Given the description of an element on the screen output the (x, y) to click on. 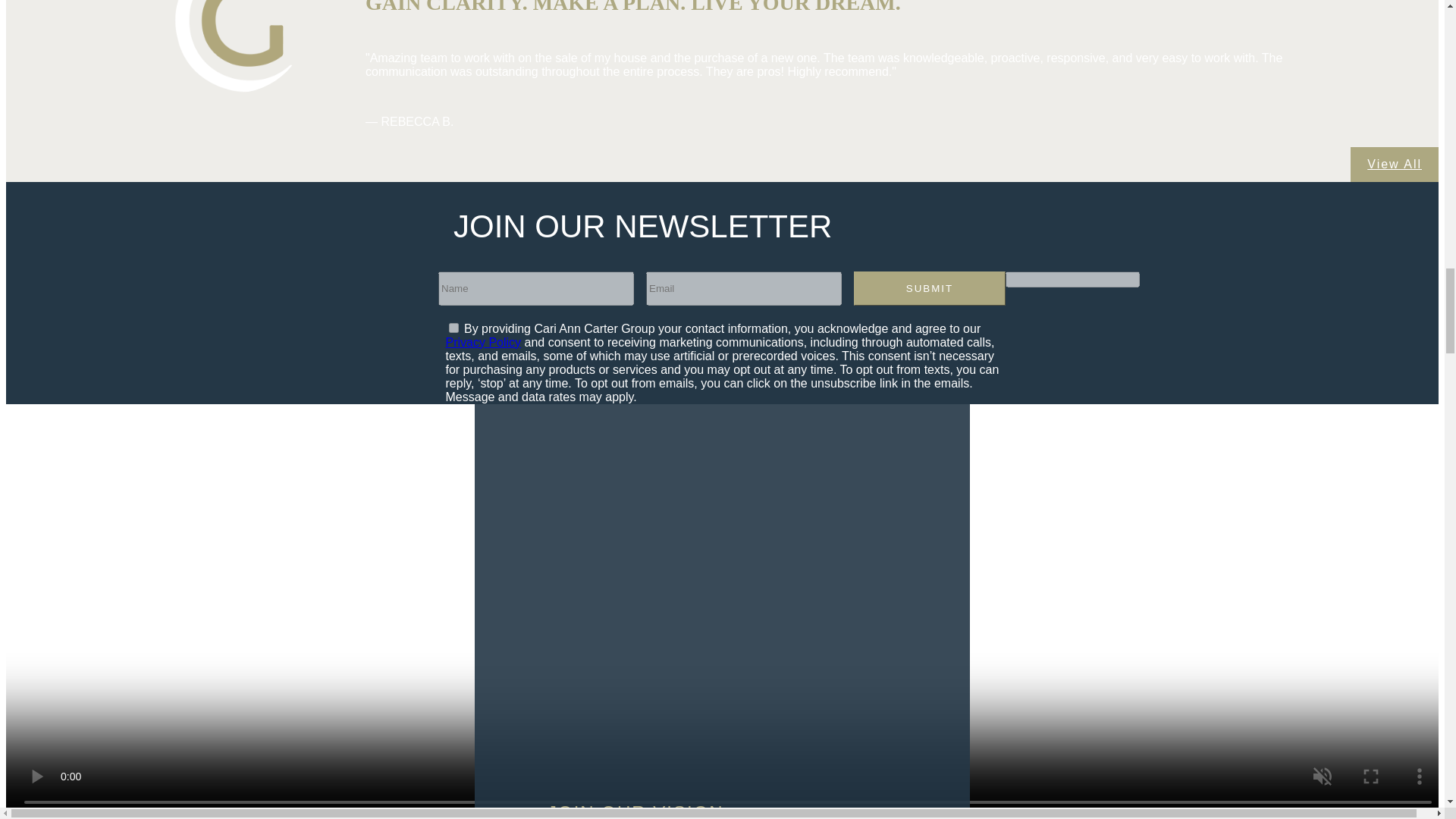
on (453, 327)
